Given the description of an element on the screen output the (x, y) to click on. 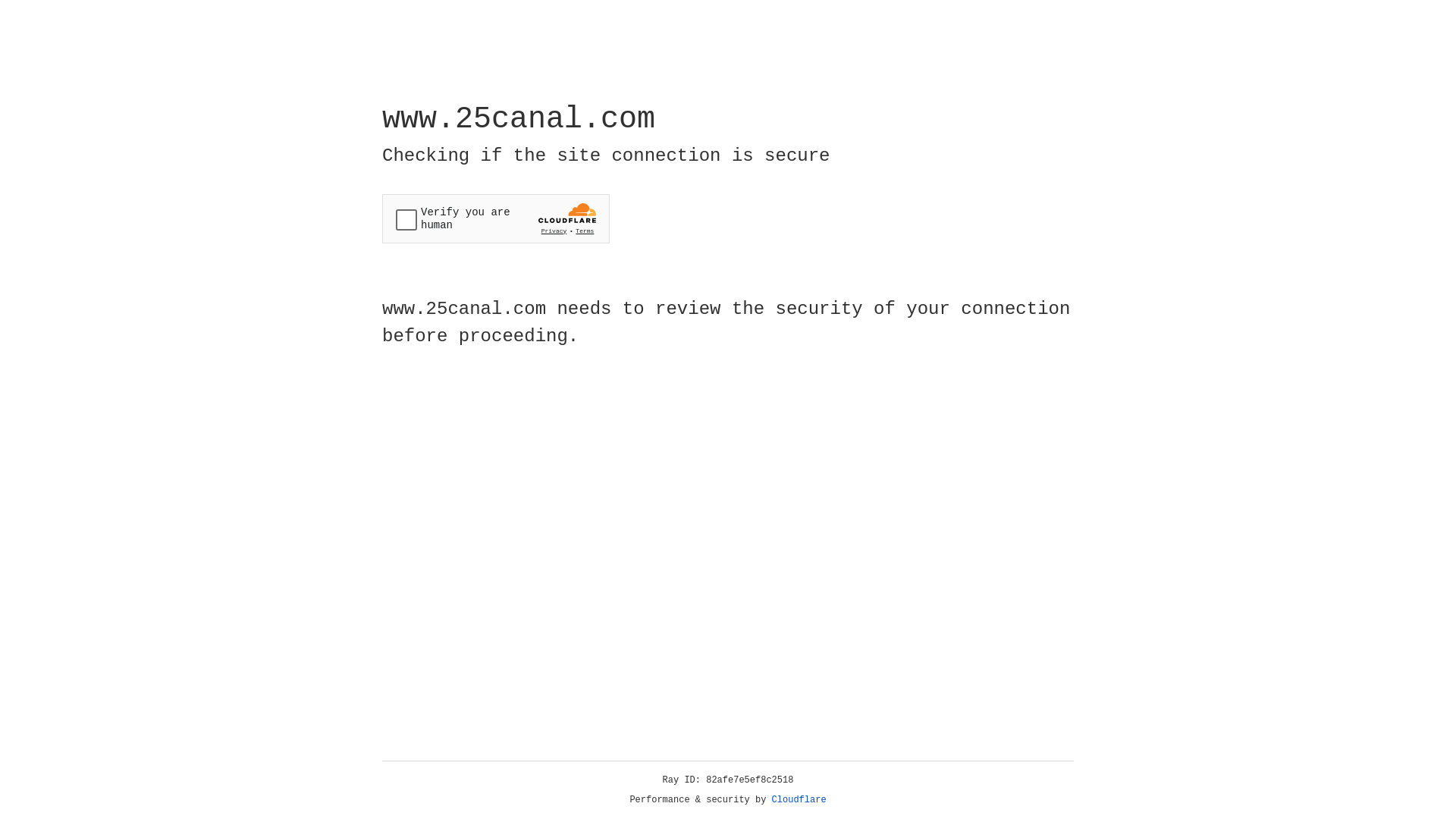
Cloudflare Element type: text (798, 799)
Widget containing a Cloudflare security challenge Element type: hover (495, 218)
